Given the description of an element on the screen output the (x, y) to click on. 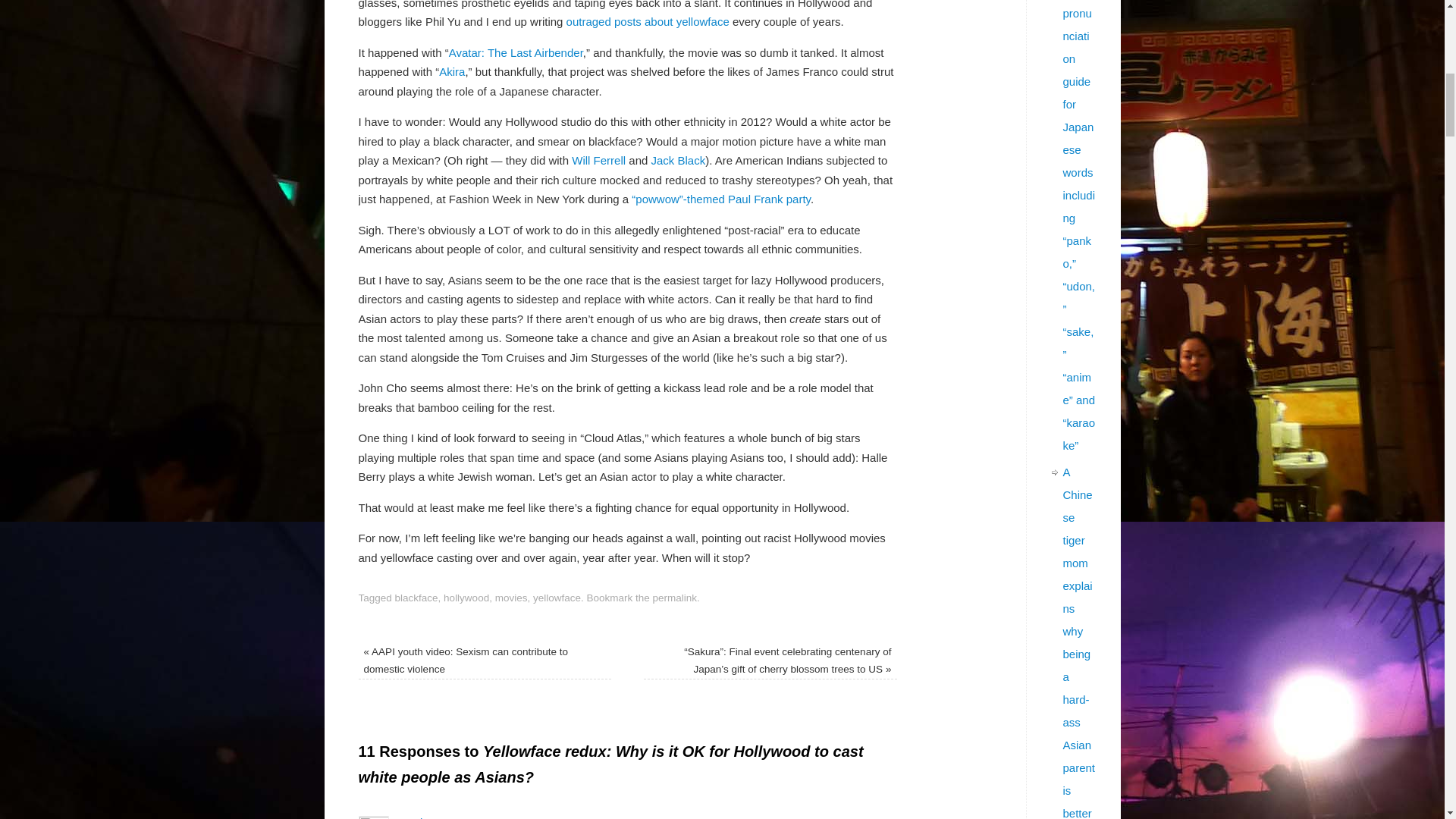
Avatar: The Last Airbender (515, 51)
Akira (451, 71)
movies (511, 597)
blackface (416, 597)
Jack Black (677, 160)
hollywood (466, 597)
yellowface (556, 597)
outraged posts about yellowface (647, 21)
Will Ferrell (599, 160)
